Given the description of an element on the screen output the (x, y) to click on. 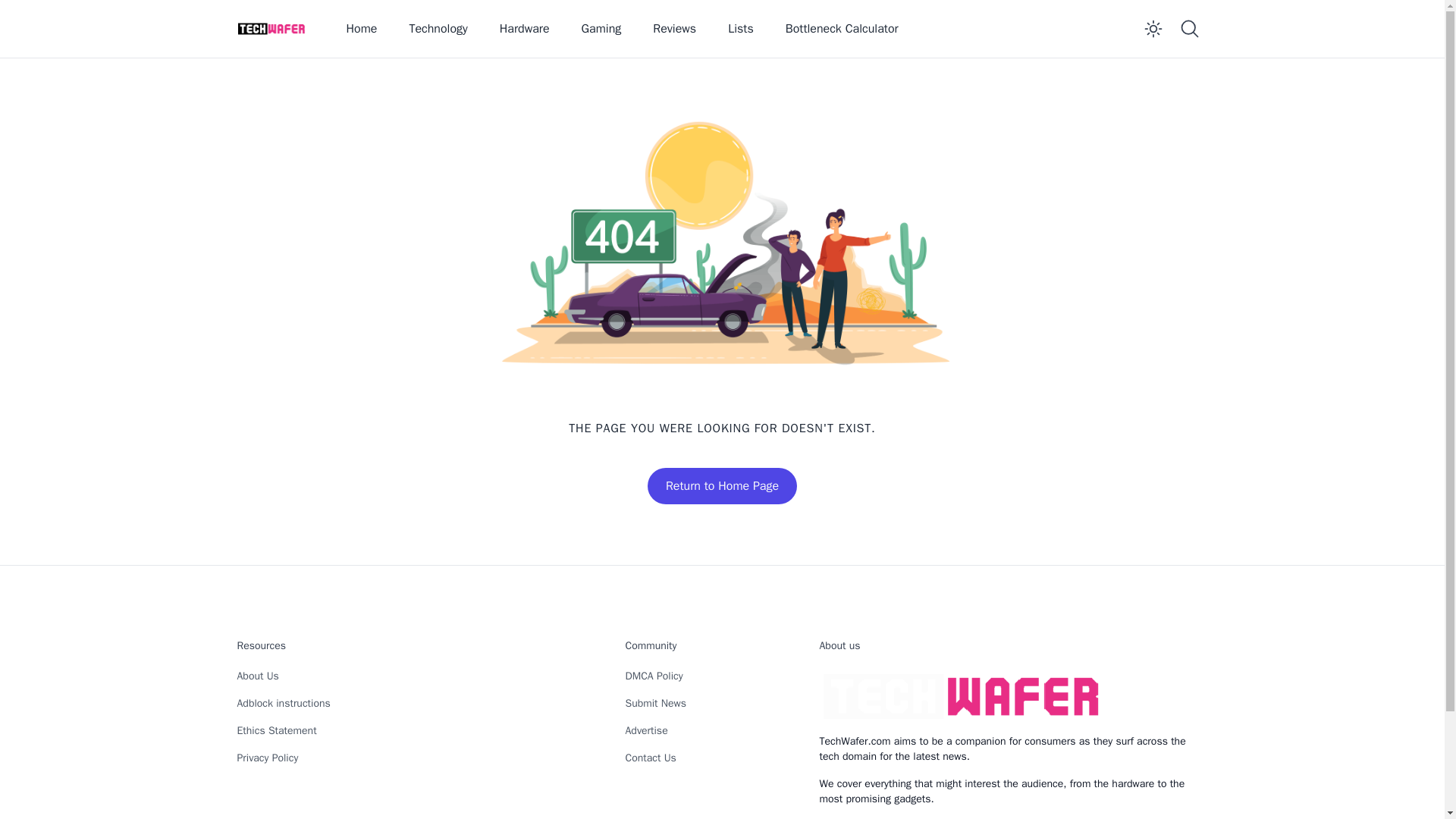
Enable dark mode (1152, 28)
Contact Us (649, 757)
Privacy Policy (266, 757)
Gaming (600, 28)
Technology (437, 28)
About Us (256, 675)
Home (360, 28)
Hardware (524, 28)
Return to Home Page (721, 485)
Advertise (645, 730)
